Given the description of an element on the screen output the (x, y) to click on. 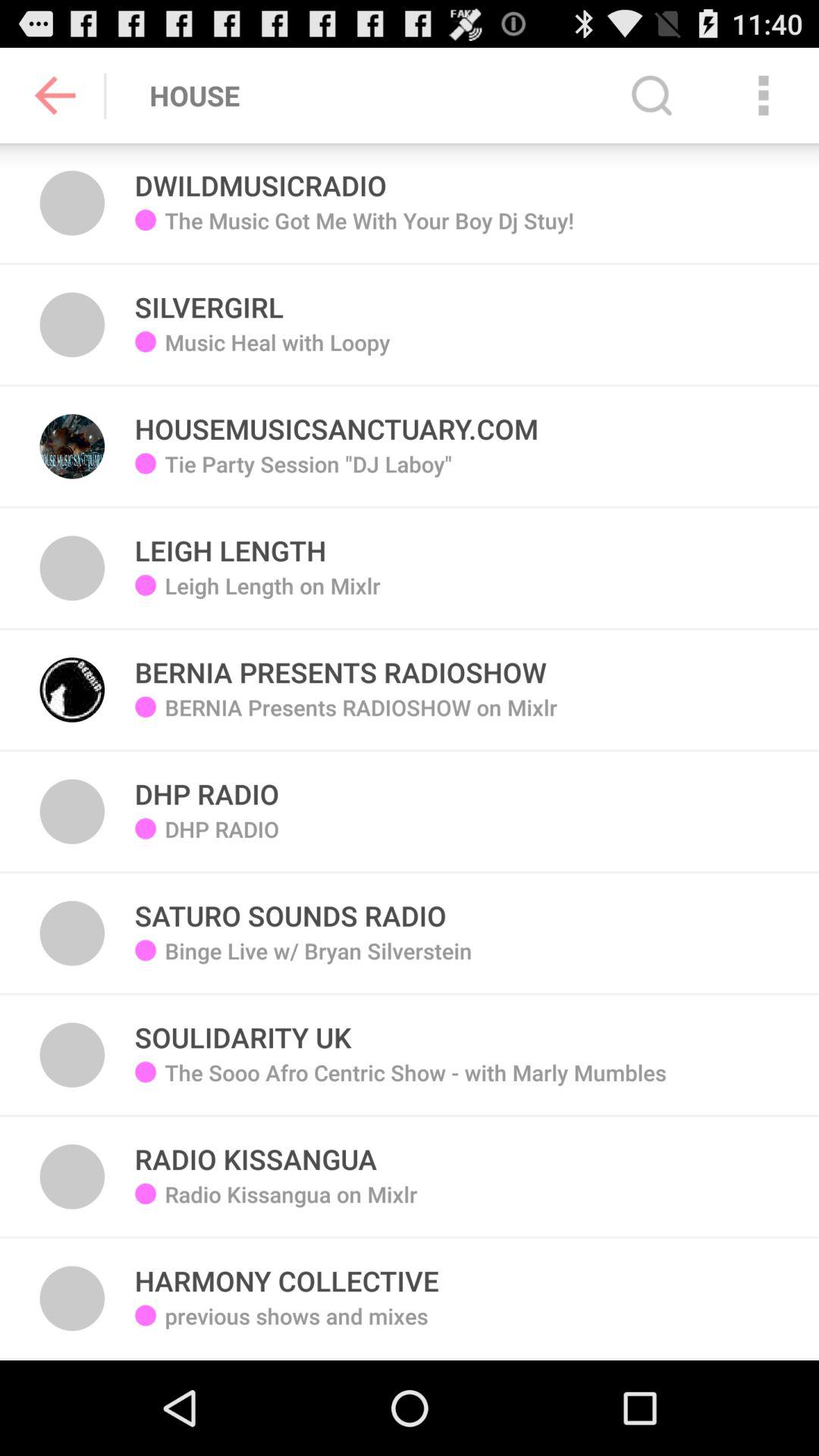
choose the app below radio kissangua on icon (286, 1272)
